Given the description of an element on the screen output the (x, y) to click on. 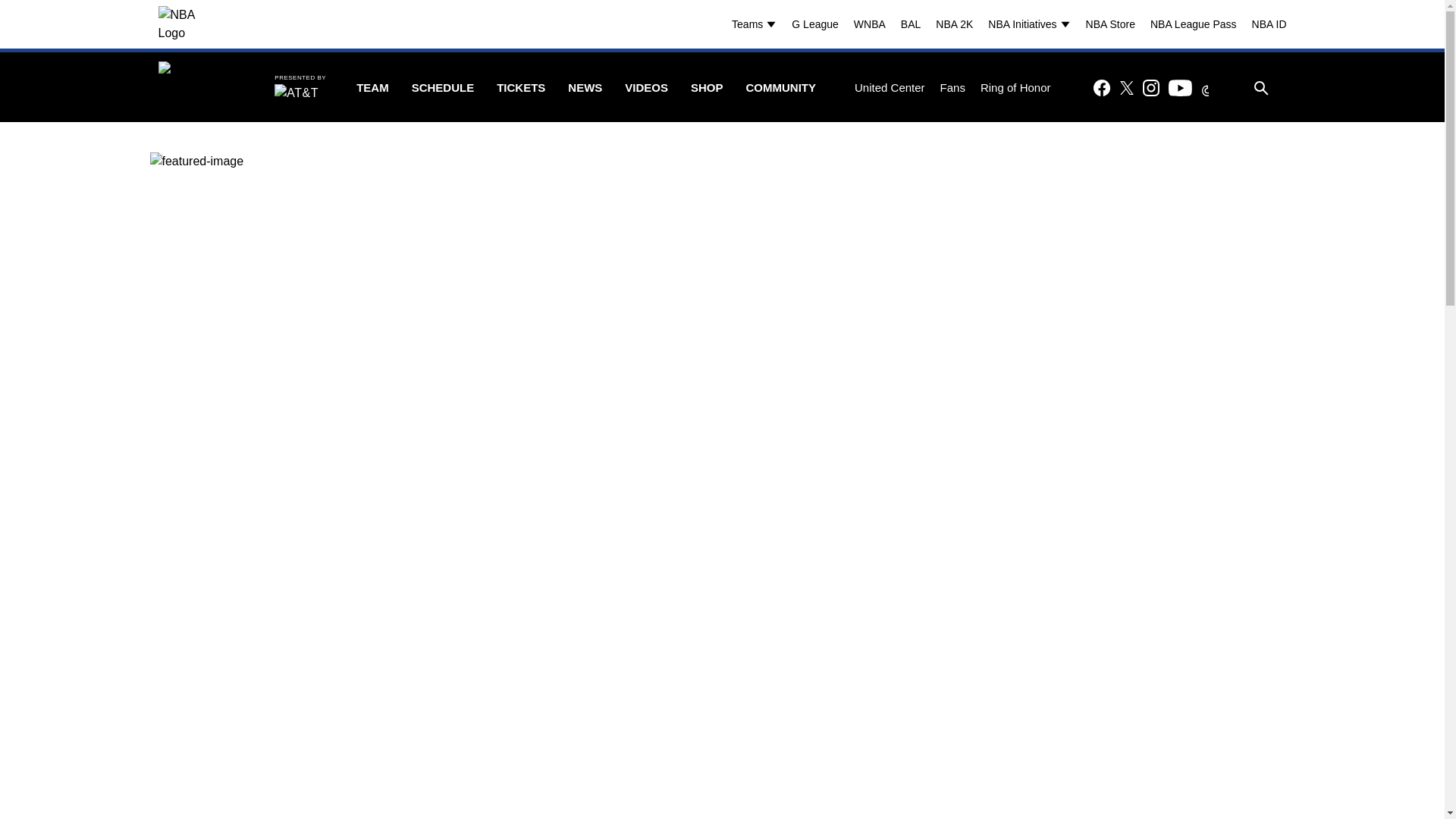
NBA Initiatives (1033, 24)
Home (200, 87)
WNBA (869, 24)
BAL (910, 24)
G League (815, 24)
Teams (759, 24)
NBA 2K (954, 24)
